Given the description of an element on the screen output the (x, y) to click on. 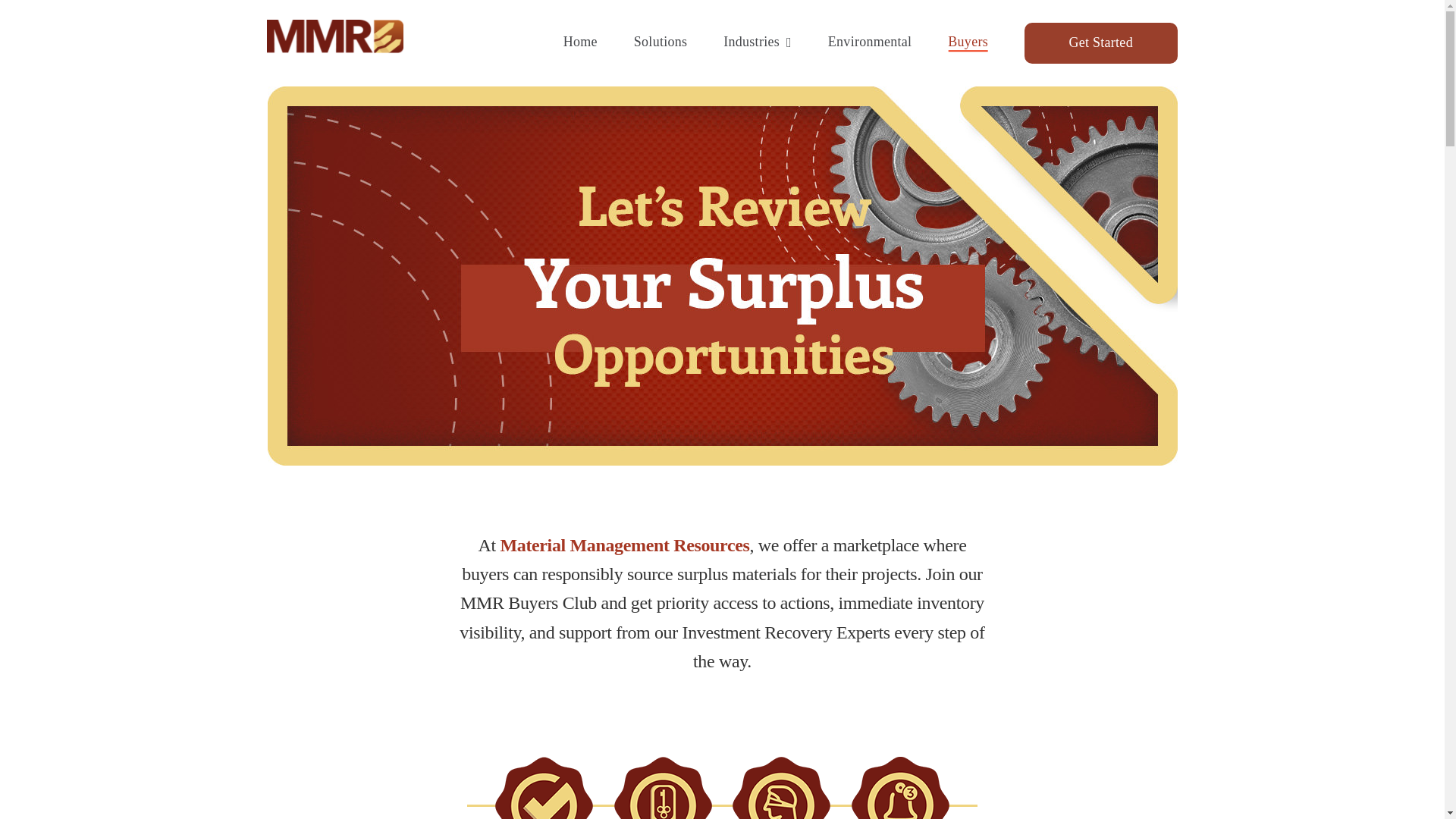
Environmental (869, 43)
Solutions (660, 43)
Industries (757, 43)
Home (579, 43)
Get Started (1101, 42)
Buyers (967, 43)
